Given the description of an element on the screen output the (x, y) to click on. 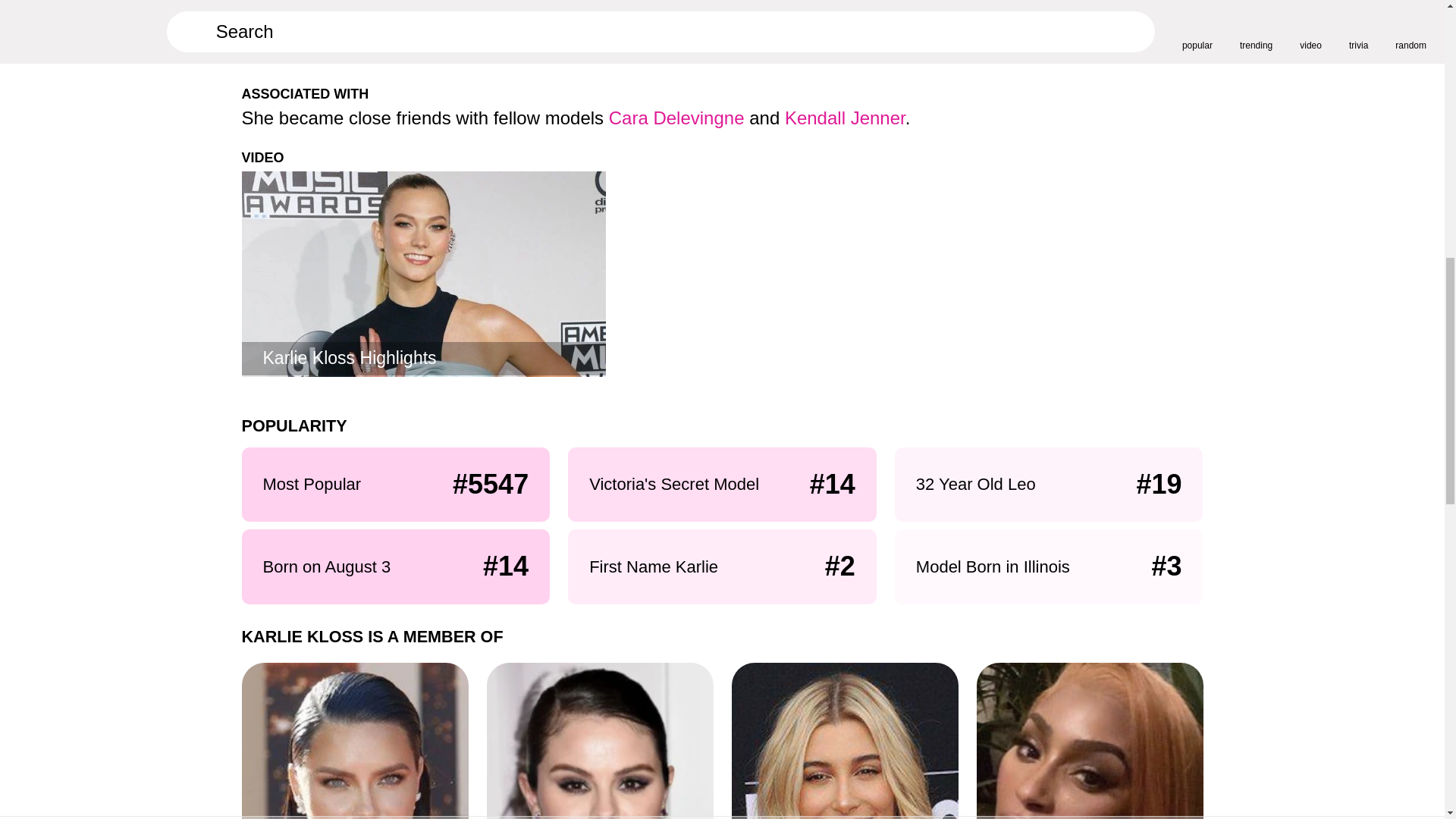
Karlie Kloss Highlights (423, 273)
Kendall Jenner (844, 117)
First Name Karlie (1090, 740)
Cara Delevingne (676, 117)
32 Year Olds (599, 740)
Models (844, 740)
Victoria's Secret Models (354, 740)
